Given the description of an element on the screen output the (x, y) to click on. 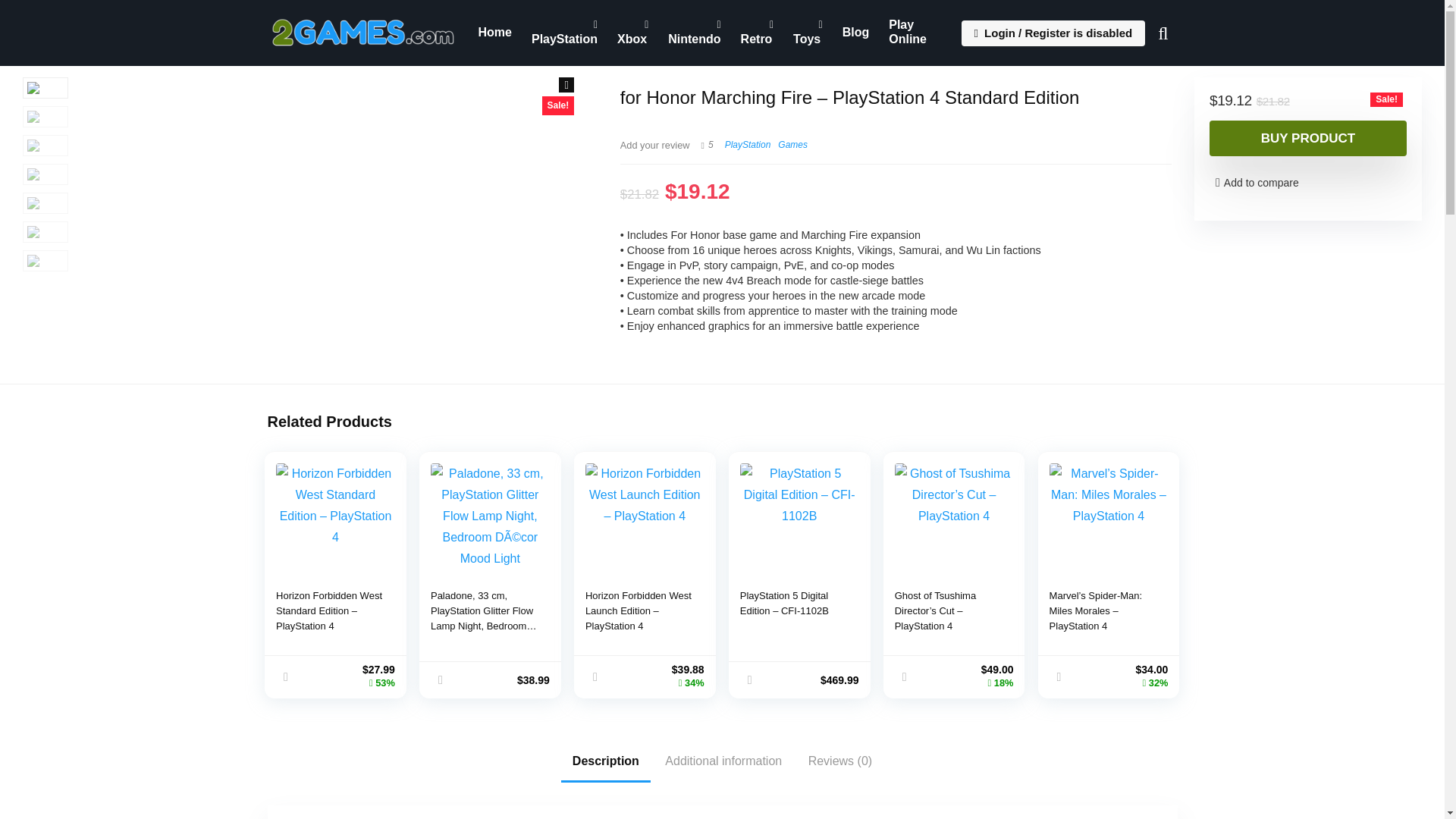
Home (494, 32)
Add your review (655, 144)
Xbox (632, 32)
View all posts in Games (792, 144)
View all posts in PlayStation (748, 144)
Nintendo (694, 32)
Retro (756, 32)
PlayStation (564, 32)
Toys (807, 32)
Play Online (916, 32)
Blog (855, 32)
